Given the description of an element on the screen output the (x, y) to click on. 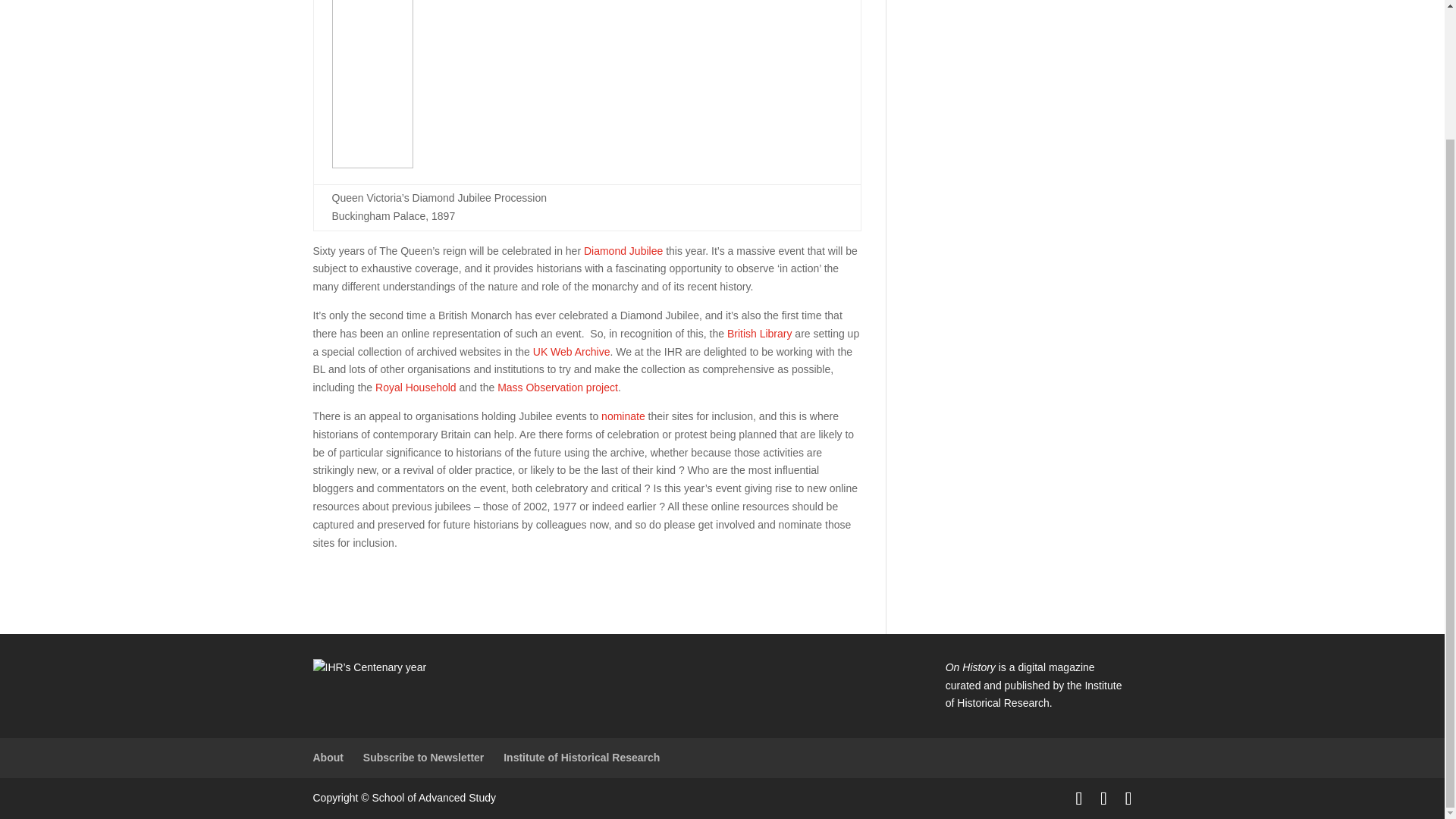
Subscribe to Newsletter (423, 757)
Diamond Jubilee (622, 250)
Mass Observation project (557, 387)
Royal Household (416, 387)
UK Web Archive (571, 351)
About (327, 757)
Royal Household (416, 387)
Mass Observation website (557, 387)
nominate (623, 416)
British Library (759, 333)
